Given the description of an element on the screen output the (x, y) to click on. 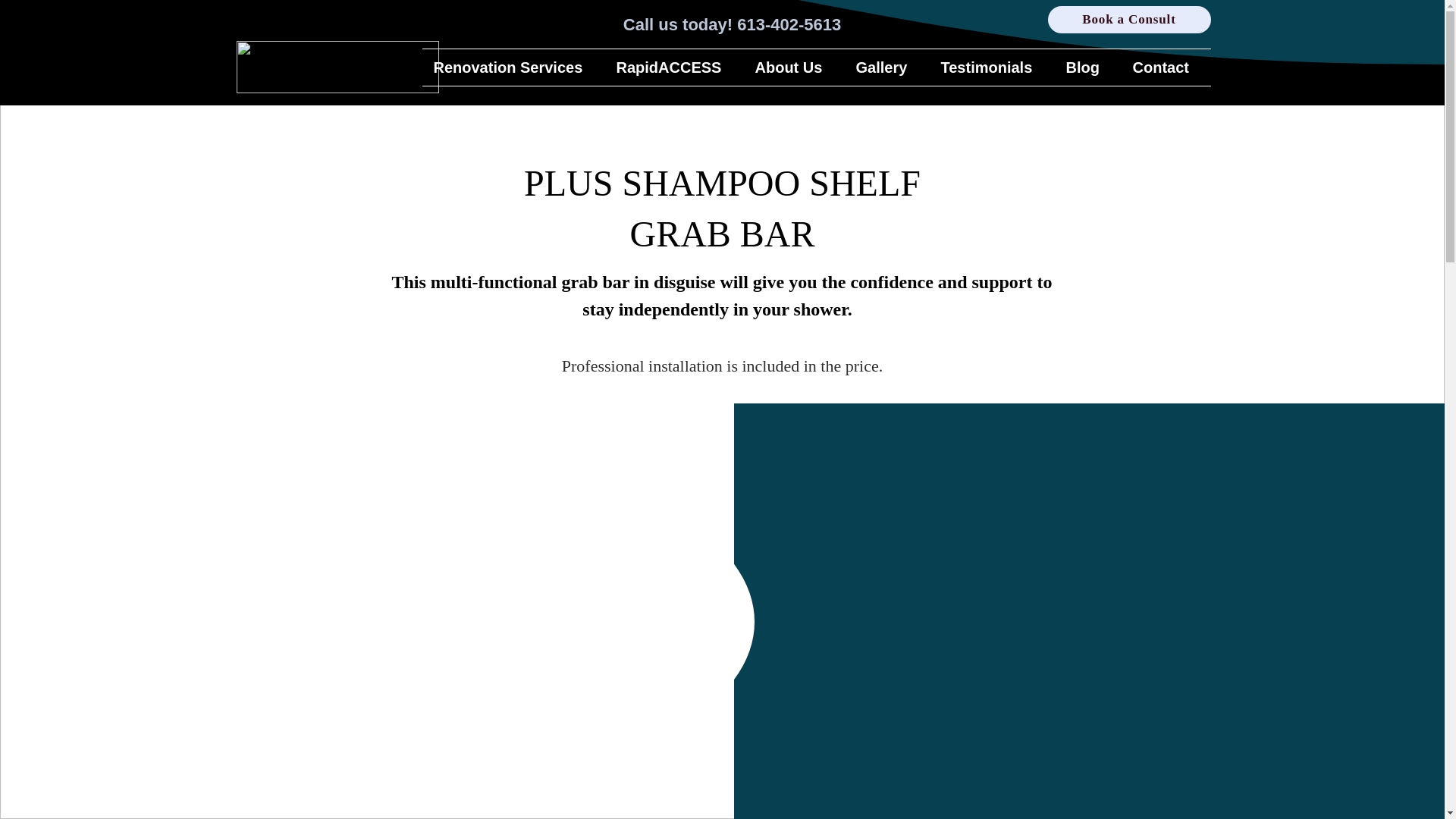
Testimonials (992, 67)
Book a Consult (1129, 19)
Renovation Services (513, 67)
About Us (793, 67)
Call us today! 613-402-5613 (732, 24)
Gallery (887, 67)
RapidACCESS (674, 67)
Blog (1087, 67)
Contact (1165, 67)
